Given the description of an element on the screen output the (x, y) to click on. 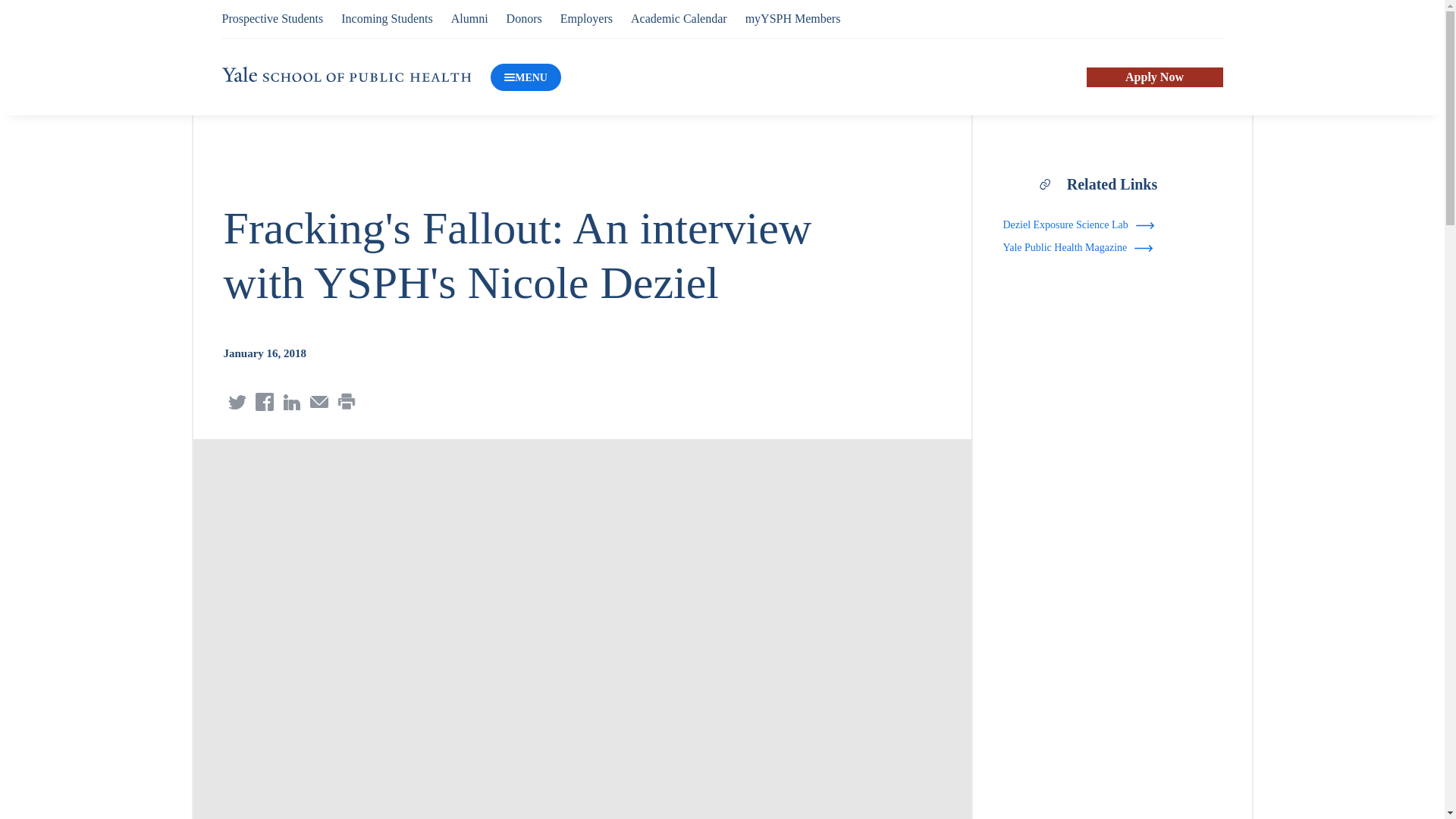
myYSPH Members (793, 18)
Prospective Students (272, 18)
Apply Now (1154, 76)
Employers (586, 18)
Alumni (469, 18)
Academic Calendar (678, 18)
Donors (523, 18)
Yale School of Public Health (345, 73)
Incoming Students (386, 18)
MENU (525, 76)
